Given the description of an element on the screen output the (x, y) to click on. 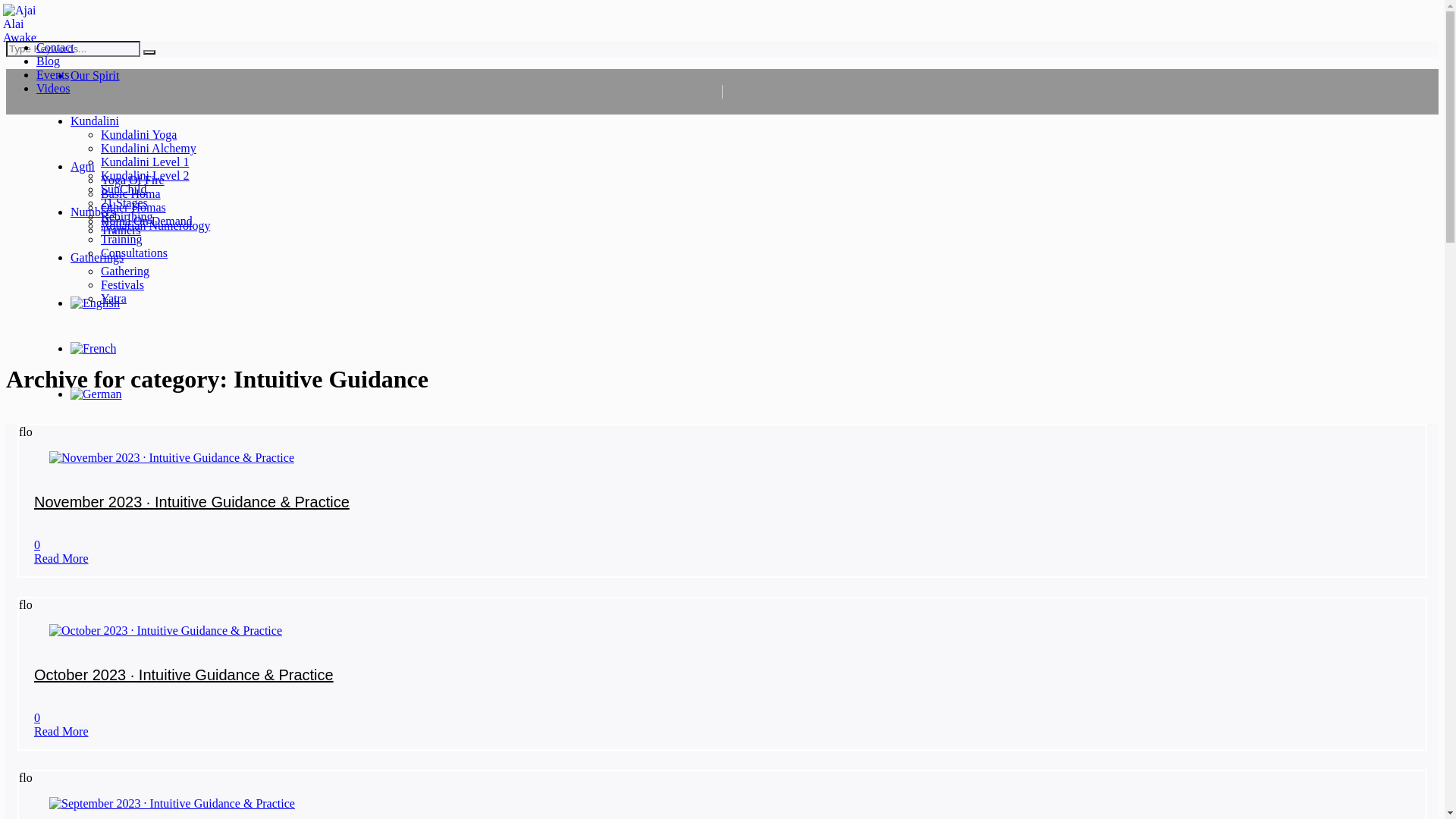
Basic Homa Element type: text (130, 193)
Numbers Element type: text (92, 211)
SunChild Element type: text (123, 188)
Agni Element type: text (82, 166)
Yatra Element type: text (113, 297)
Homa On Demand Element type: text (146, 220)
Kundalini Yoga Element type: text (138, 134)
Festivals Element type: text (122, 284)
Events Element type: text (52, 74)
Videos Element type: text (52, 87)
Kundalini Level 1 Element type: text (144, 161)
Kundalini Alchemy Element type: text (148, 147)
0 Element type: text (37, 544)
Other Homas Element type: text (133, 206)
Our Spirit Element type: text (94, 75)
Blog Element type: text (47, 60)
Kundalini Level 2 Element type: text (144, 175)
Yoga Of Fire Element type: text (132, 179)
21 Stages Element type: text (123, 202)
Consultations Element type: text (133, 252)
Read More Element type: text (61, 730)
Trainers Element type: text (120, 229)
0 Element type: text (37, 717)
Contact Element type: text (55, 46)
Gatherings Element type: text (96, 257)
Gathering Element type: text (124, 270)
Aquarian Numerology Element type: text (155, 225)
Read More Element type: text (61, 558)
Rebirthing Element type: text (126, 216)
Training Element type: text (121, 238)
Kundalini Element type: text (94, 120)
